Given the description of an element on the screen output the (x, y) to click on. 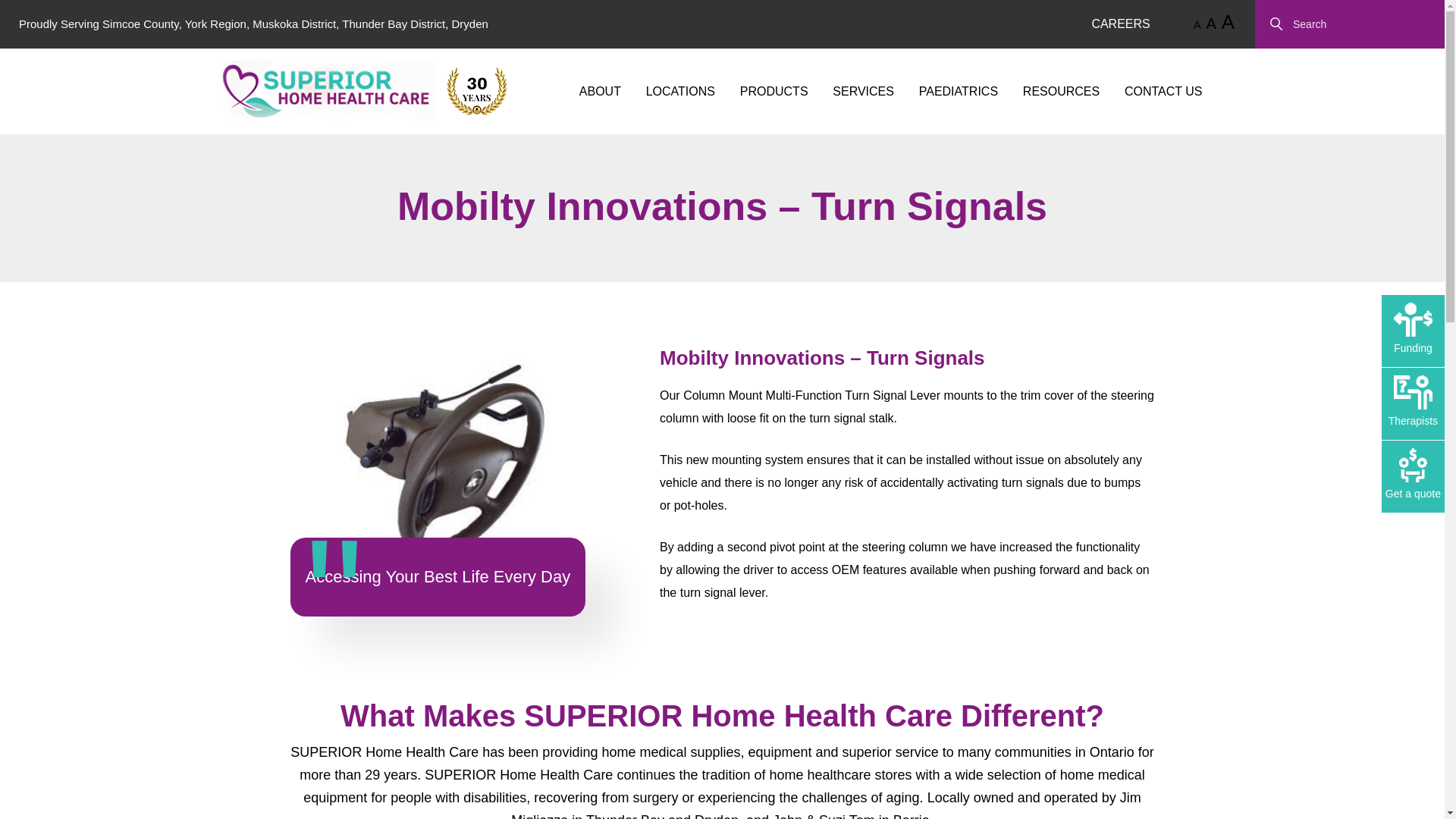
LOCATIONS (680, 91)
CONTACT US (1163, 91)
PRODUCTS (773, 91)
CAREERS (1120, 24)
PAEDIATRICS (957, 91)
SERVICES (862, 91)
RESOURCES (1061, 91)
